Given the description of an element on the screen output the (x, y) to click on. 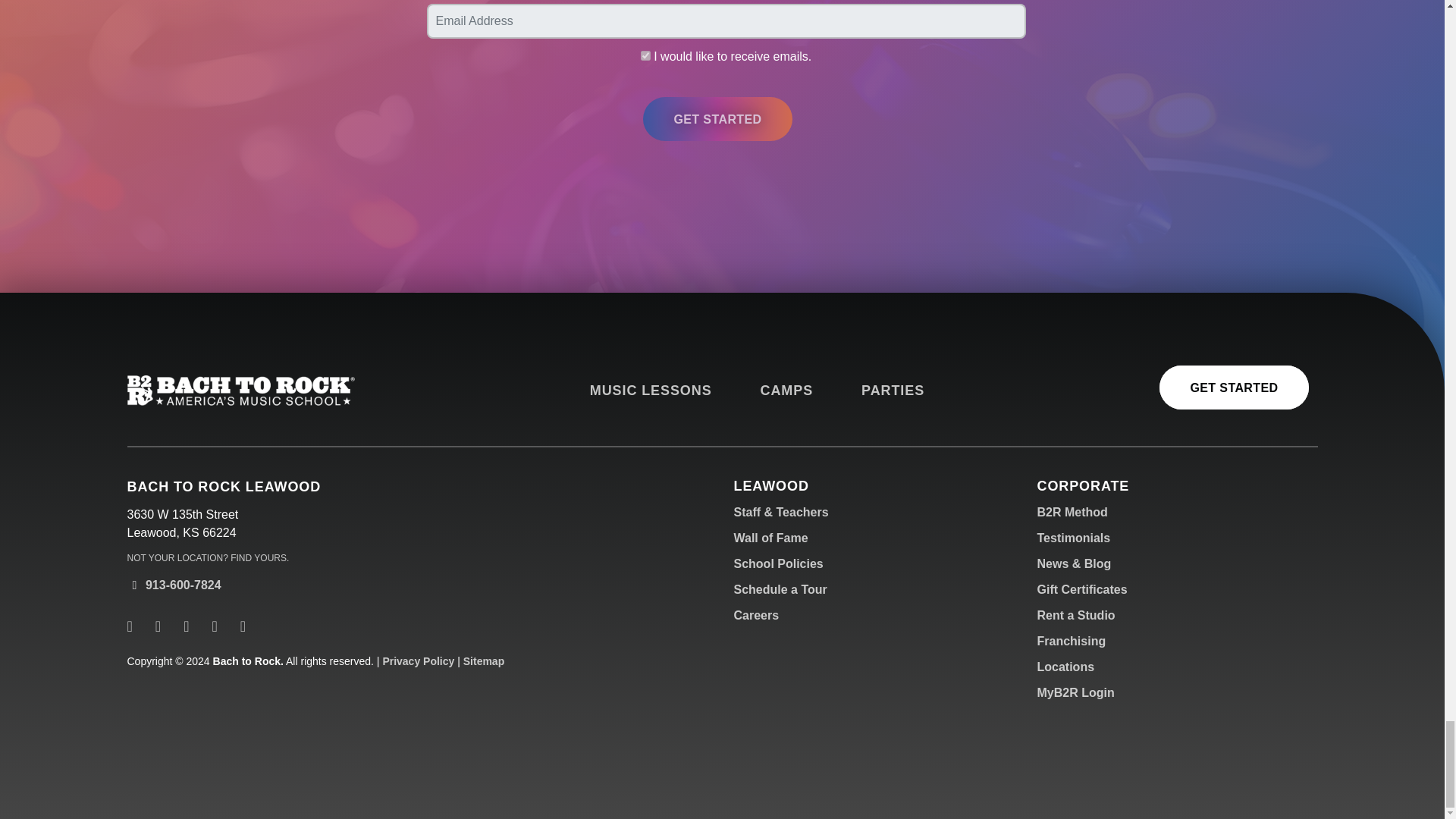
Bach to Rock (241, 390)
Get Started (717, 118)
one (645, 55)
